Given the description of an element on the screen output the (x, y) to click on. 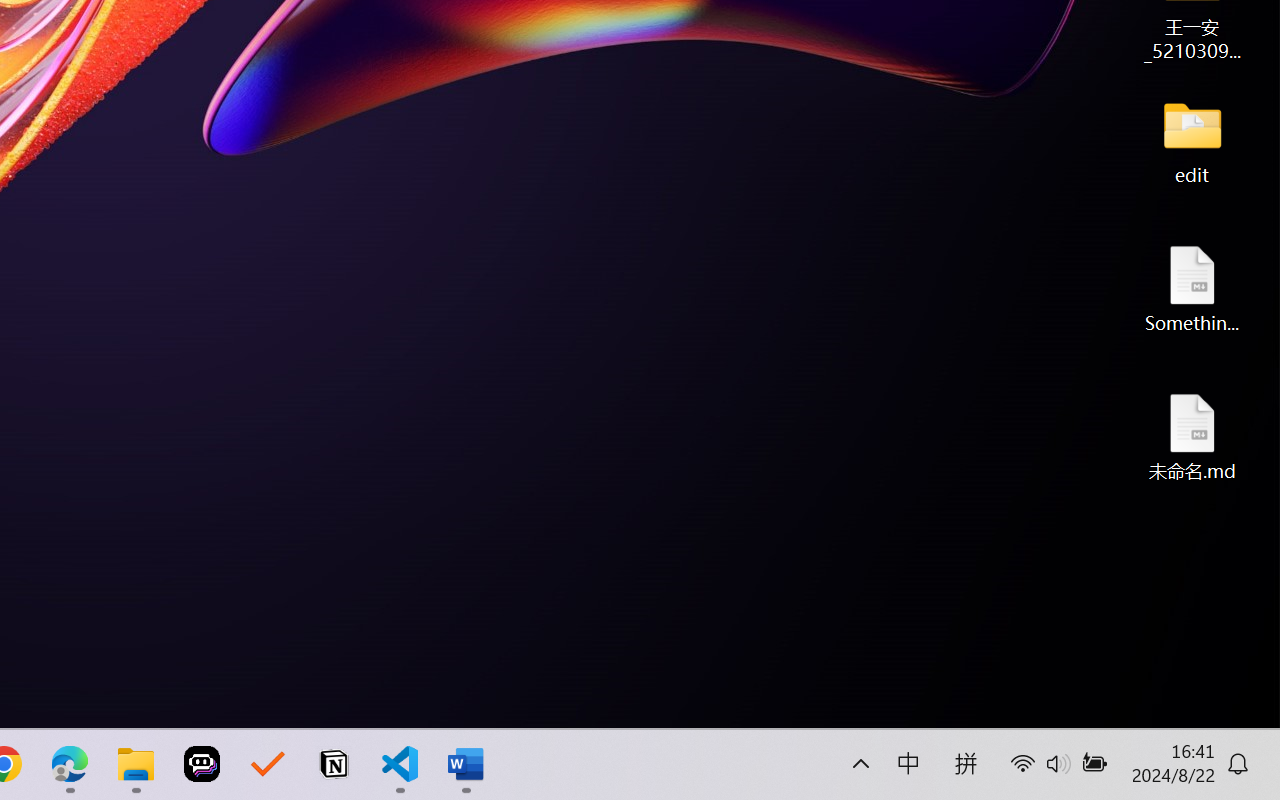
edit (1192, 140)
Something.md (1192, 288)
Poe (201, 764)
